Given the description of an element on the screen output the (x, y) to click on. 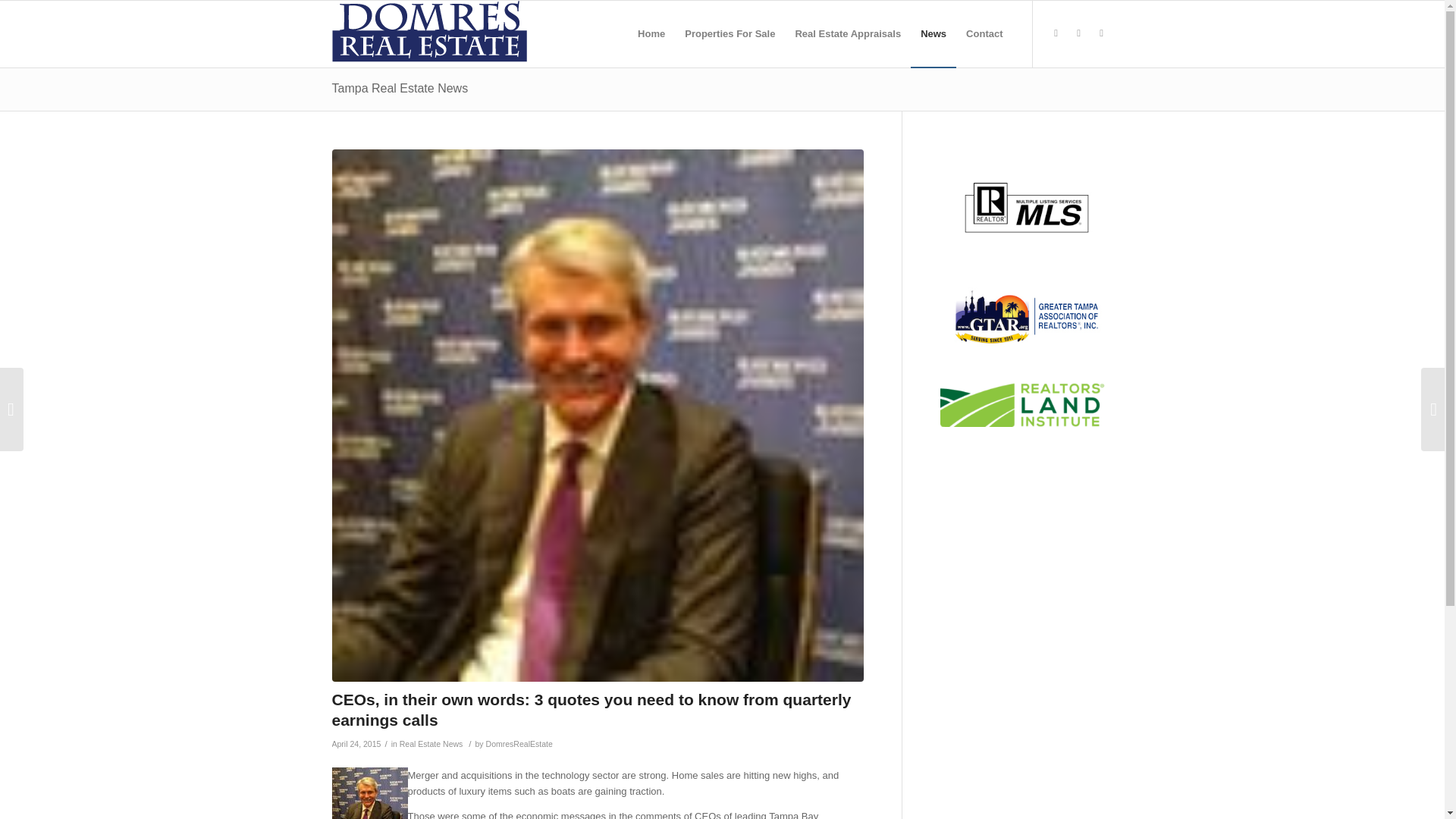
Posts by DomresRealEstate (519, 743)
Properties For Sale (729, 33)
Twitter (1056, 33)
Instagram (1101, 33)
Tampa Real Estate News (399, 88)
Facebook (1078, 33)
Real Estate News (430, 743)
Permanent Link: Tampa Real Estate News (399, 88)
